Given the description of an element on the screen output the (x, y) to click on. 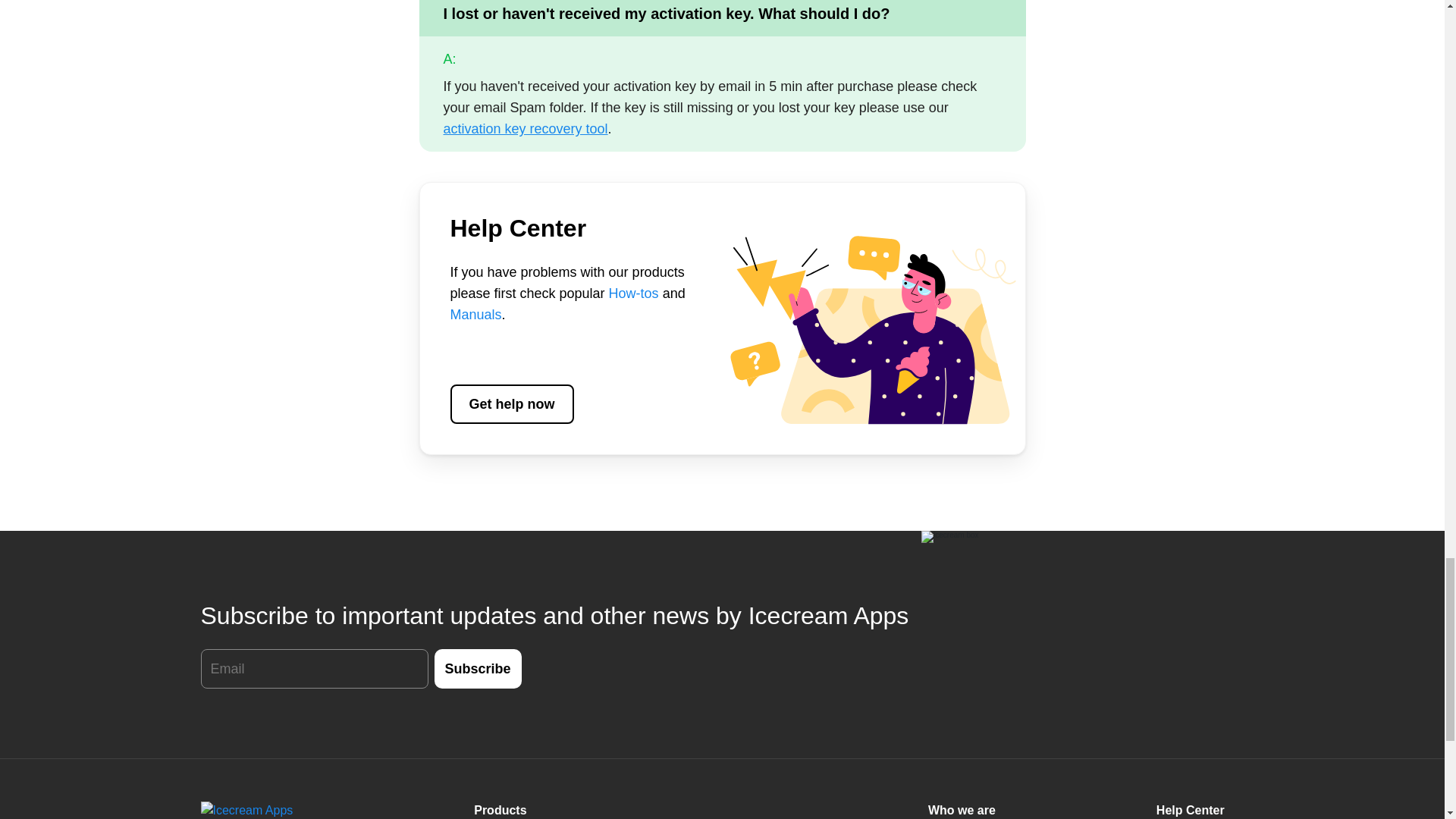
Subscribe (477, 668)
Icecream Apps (276, 810)
